Given the description of an element on the screen output the (x, y) to click on. 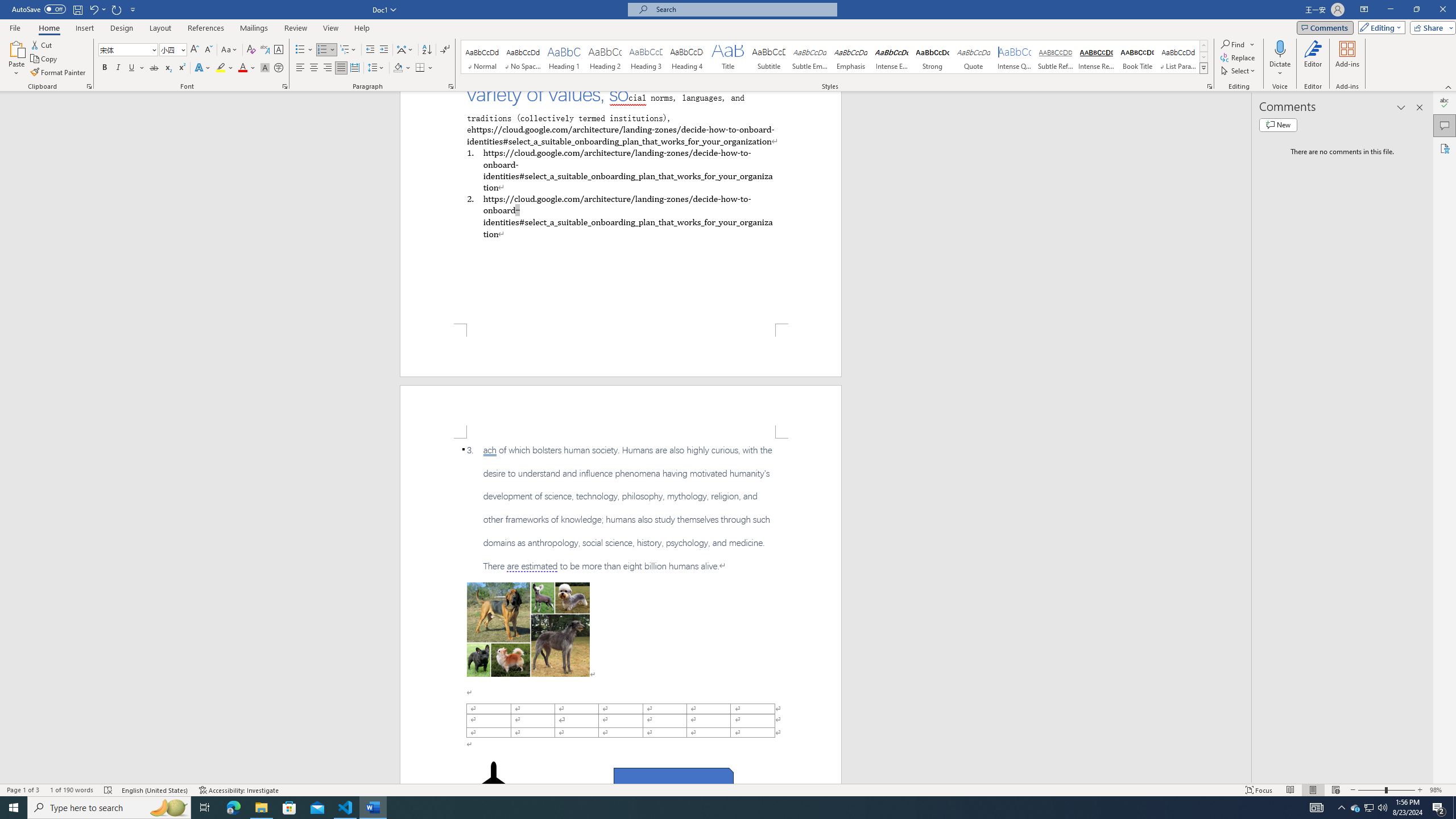
Shading (402, 67)
File Tab (15, 27)
Task Pane Options (1400, 107)
Editing (1379, 27)
Undo Apply Quick Style (96, 9)
Language English (United States) (154, 790)
Phonetic Guide... (264, 49)
Office Clipboard... (88, 85)
Multilevel List (347, 49)
Paragraph... (450, 85)
Share (1430, 27)
Footer -Section 1- (620, 349)
Row up (1203, 45)
Zoom Out (1371, 790)
